Given the description of an element on the screen output the (x, y) to click on. 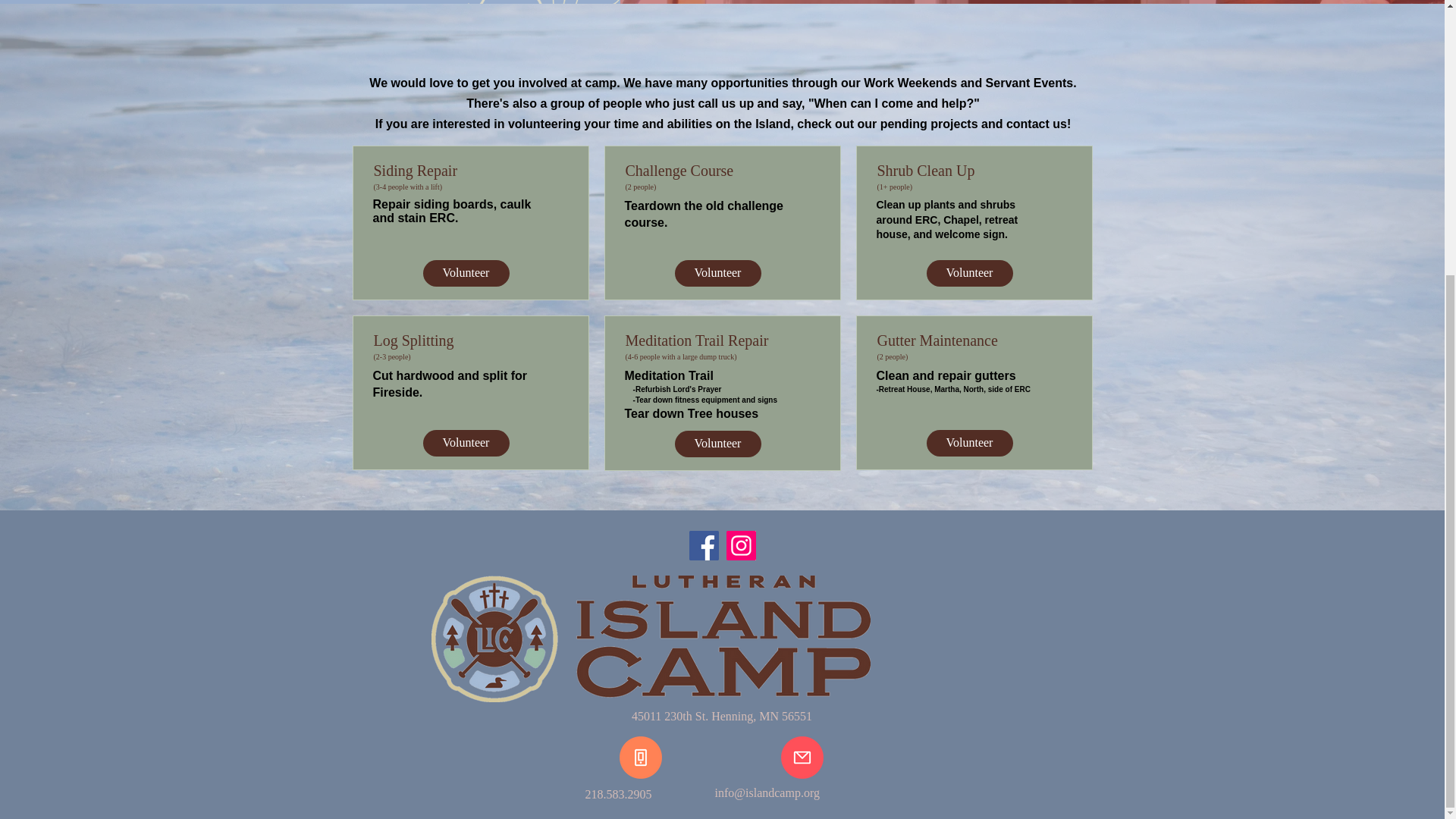
Volunteer (718, 443)
Volunteer (466, 442)
Volunteer (969, 273)
Volunteer (466, 273)
Volunteer (718, 273)
Volunteer (969, 442)
